Given the description of an element on the screen output the (x, y) to click on. 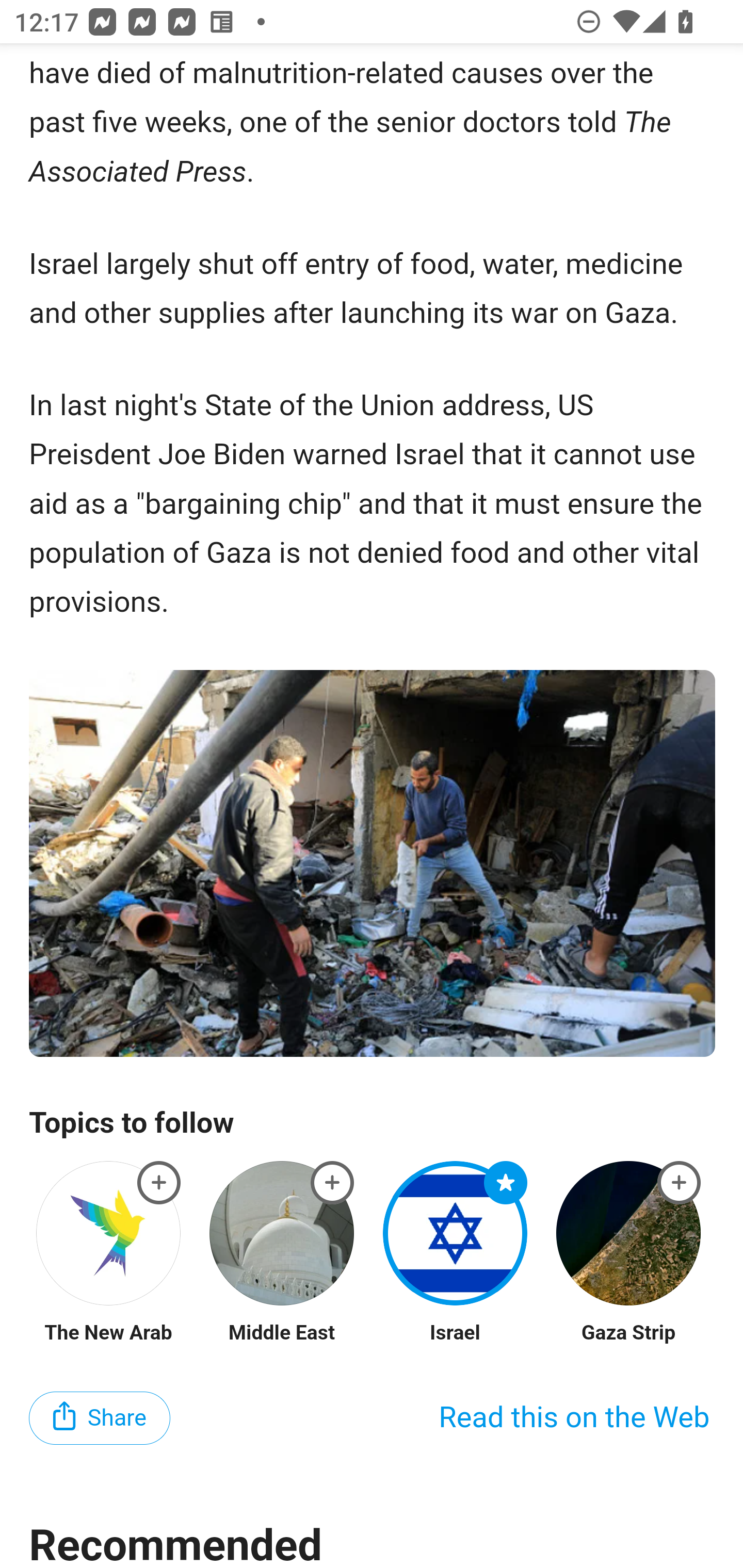
israel-continues-gaza-siege-famine-deaths-rise (159, 1182)
israel-continues-gaza-siege-famine-deaths-rise (332, 1182)
israel-continues-gaza-siege-famine-deaths-rise (505, 1182)
israel-continues-gaza-siege-famine-deaths-rise (679, 1182)
The New Arab (108, 1333)
Middle East (281, 1333)
Israel (454, 1333)
Gaza Strip (627, 1333)
Read this on the Web (573, 1417)
Share (99, 1418)
